Given the description of an element on the screen output the (x, y) to click on. 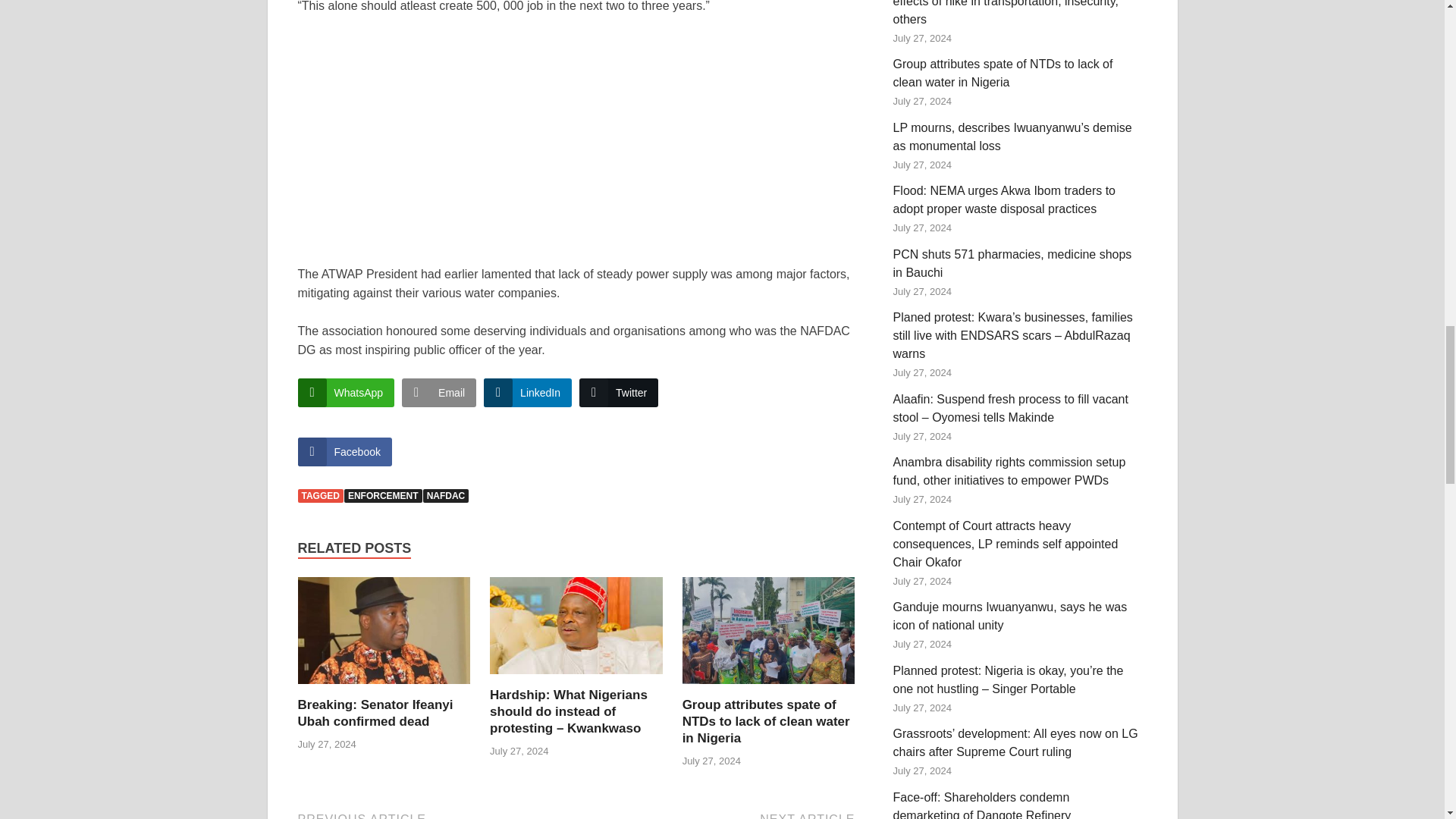
Breaking: Senator Ifeanyi Ubah confirmed dead (383, 635)
Breaking: Senator Ifeanyi Ubah confirmed dead (374, 712)
Advertisement (590, 139)
